Given the description of an element on the screen output the (x, y) to click on. 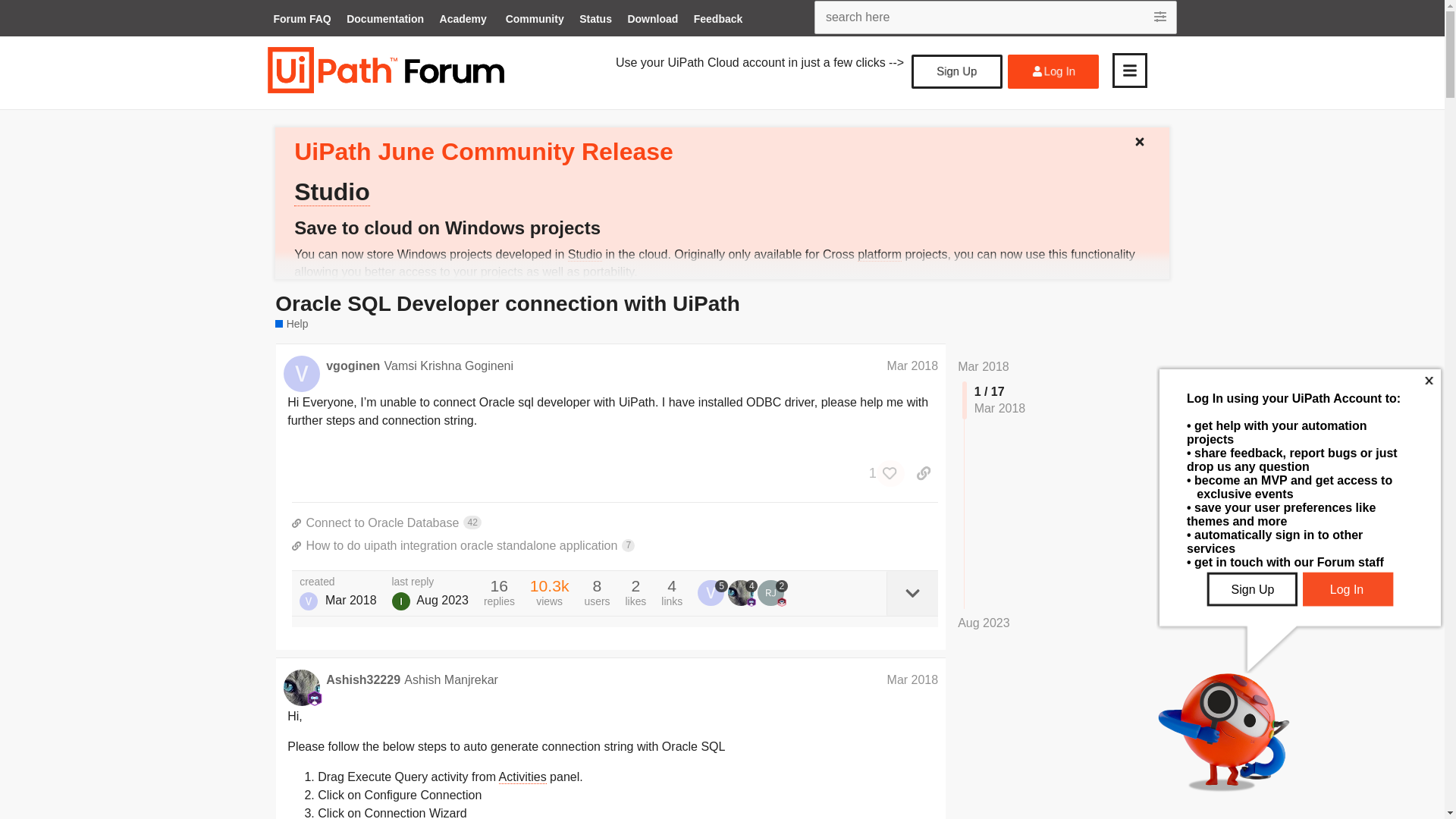
Documentation (384, 20)
Open advanced search (1161, 17)
menu (1129, 69)
Dismiss this banner (1145, 137)
Academy (463, 20)
Forum FAQ (301, 20)
